Given the description of an element on the screen output the (x, y) to click on. 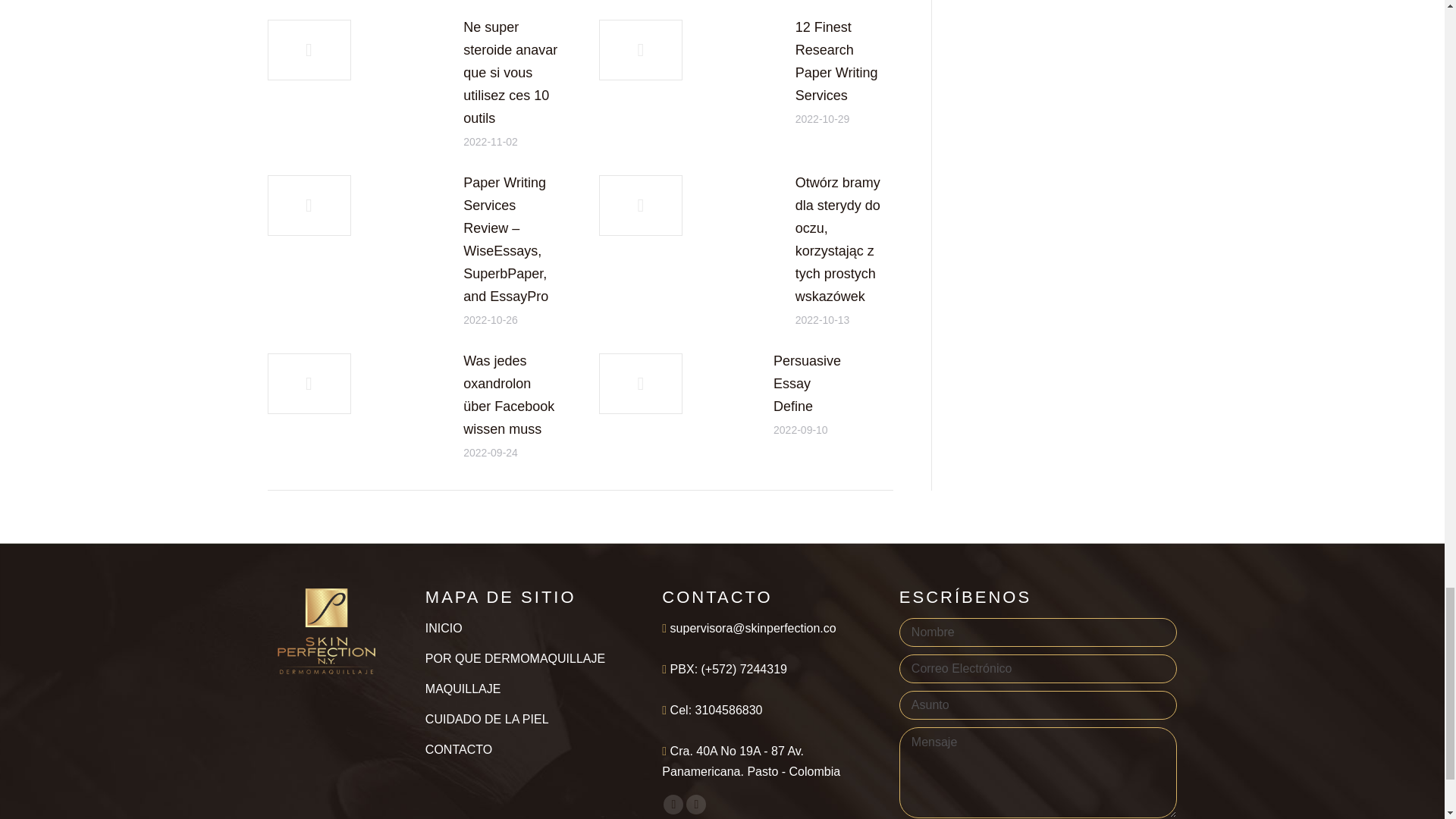
Facebook (672, 804)
Instagram (695, 804)
